Given the description of an element on the screen output the (x, y) to click on. 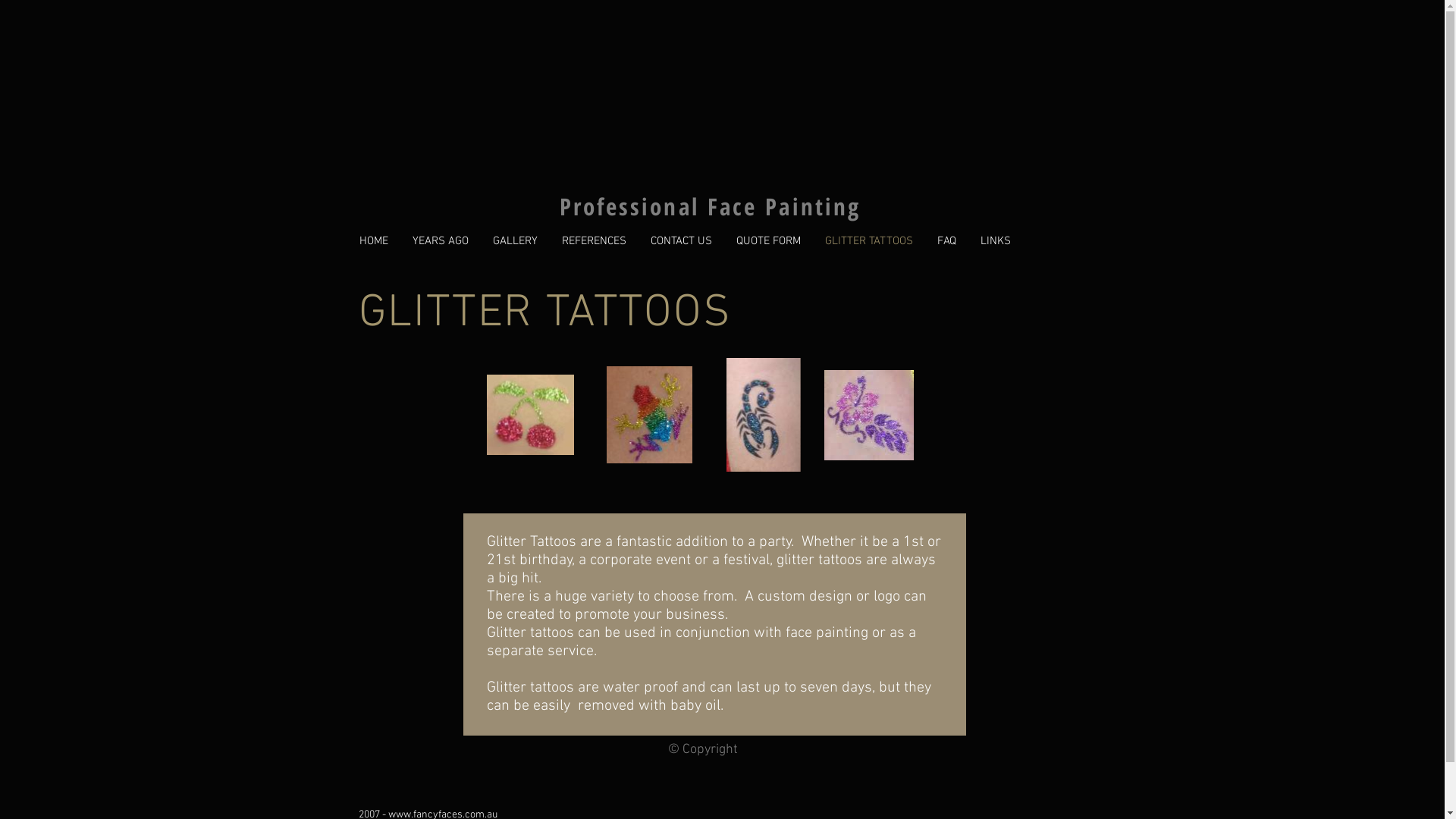
REFERENCES Element type: text (593, 241)
HOME Element type: text (373, 241)
QUOTE FORM Element type: text (767, 241)
GLITTER TATTOOS Element type: text (868, 241)
YEARS AGO Element type: text (440, 241)
LINKS Element type: text (994, 241)
FAQ Element type: text (946, 241)
GALLERY Element type: text (514, 241)
CONTACT US Element type: text (681, 241)
